Given the description of an element on the screen output the (x, y) to click on. 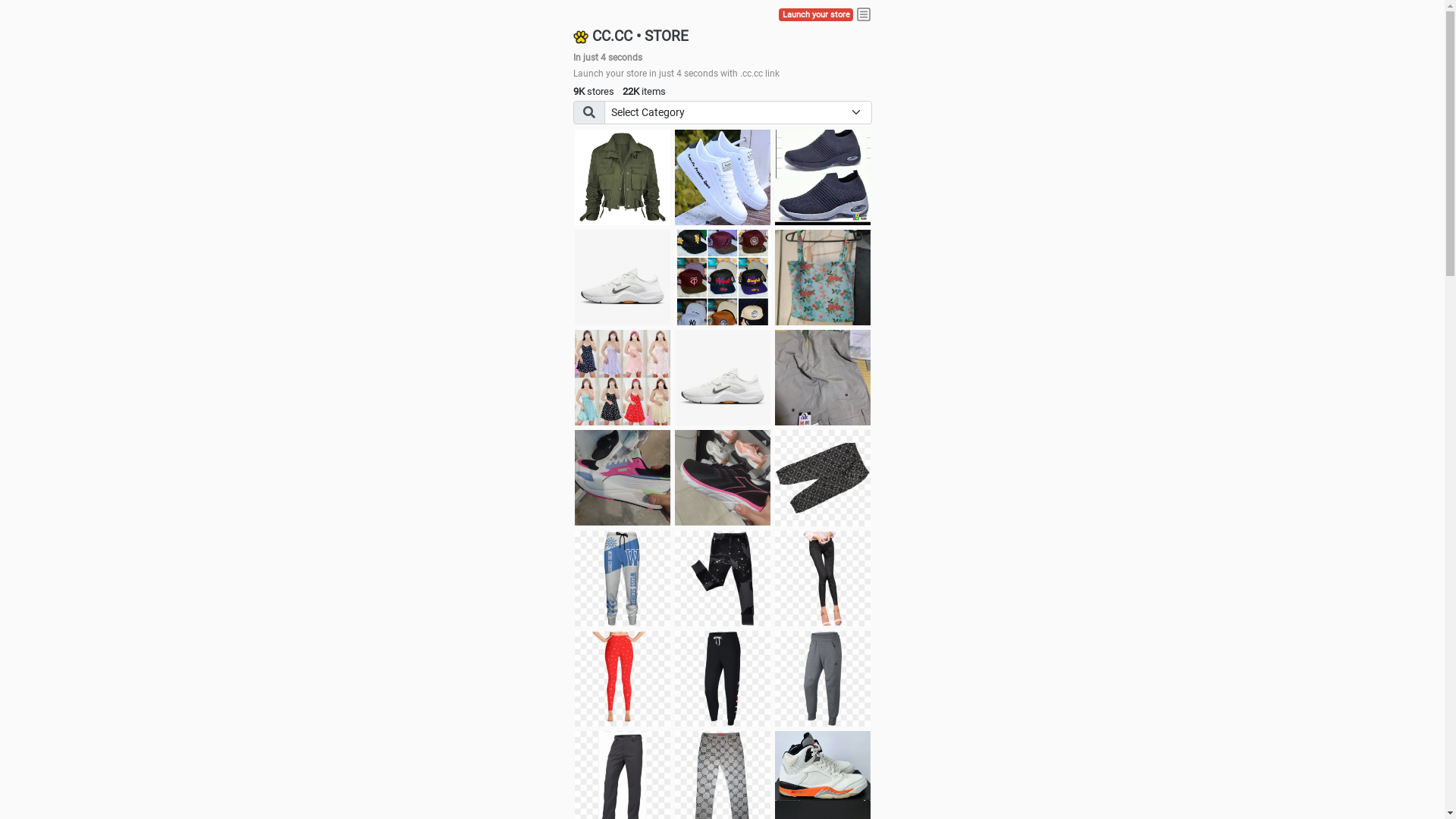
Pant Element type: hover (722, 678)
Pant Element type: hover (622, 678)
jacket Element type: hover (622, 177)
Things we need Element type: hover (722, 277)
Zapatillas Element type: hover (722, 477)
Dress/square nect top Element type: hover (622, 377)
Shoes Element type: hover (722, 377)
white shoes Element type: hover (722, 177)
Ukay cloth Element type: hover (822, 277)
Zapatillas pumas Element type: hover (622, 477)
Shoes for boys Element type: hover (622, 277)
Pant Element type: hover (822, 678)
Pant Element type: hover (622, 578)
Launch your store Element type: text (815, 14)
Pant Element type: hover (722, 578)
Pant Element type: hover (822, 578)
shoes for boys Element type: hover (822, 177)
Short pant Element type: hover (822, 477)
